Given the description of an element on the screen output the (x, y) to click on. 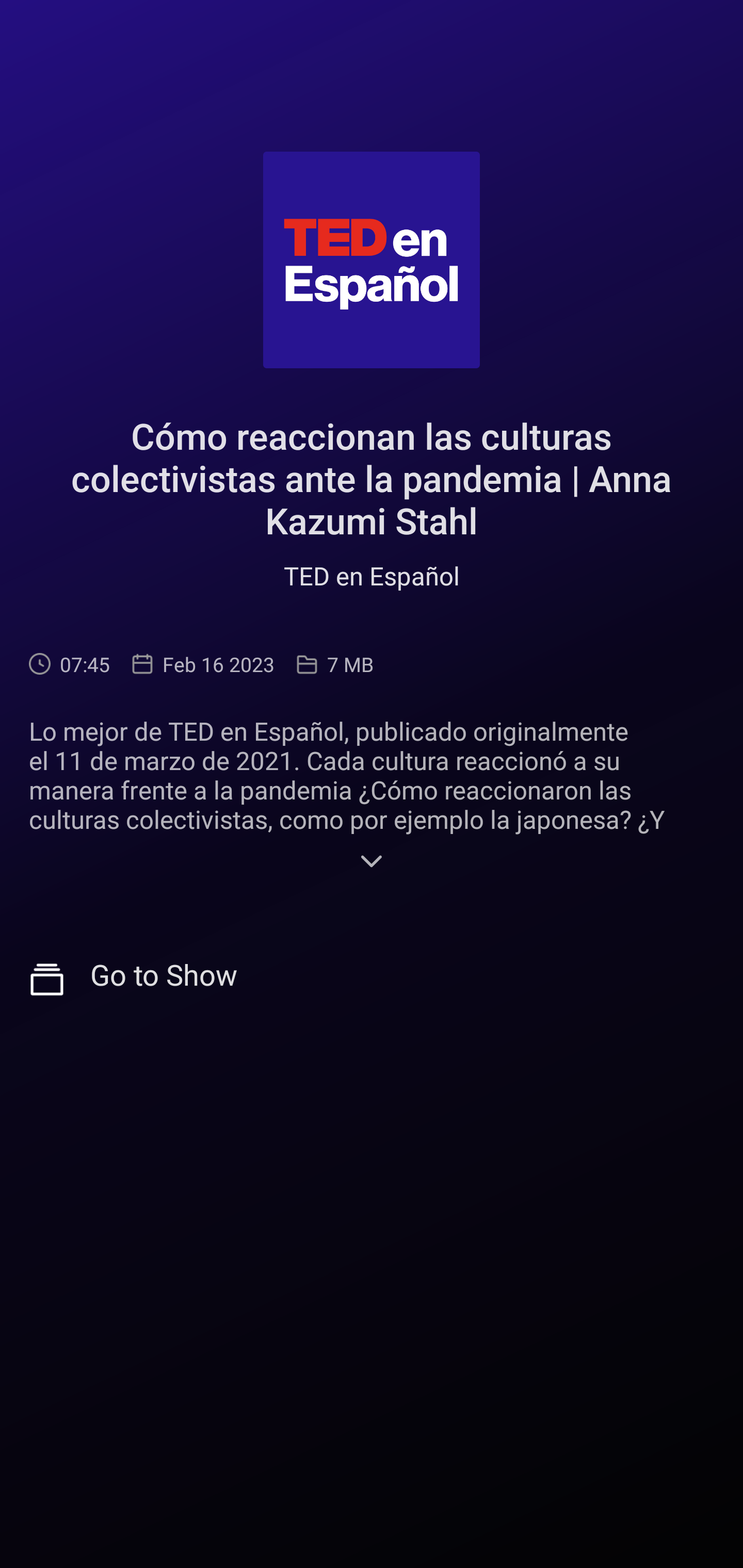
 (371, 863)
Go to Show (371, 979)
